Given the description of an element on the screen output the (x, y) to click on. 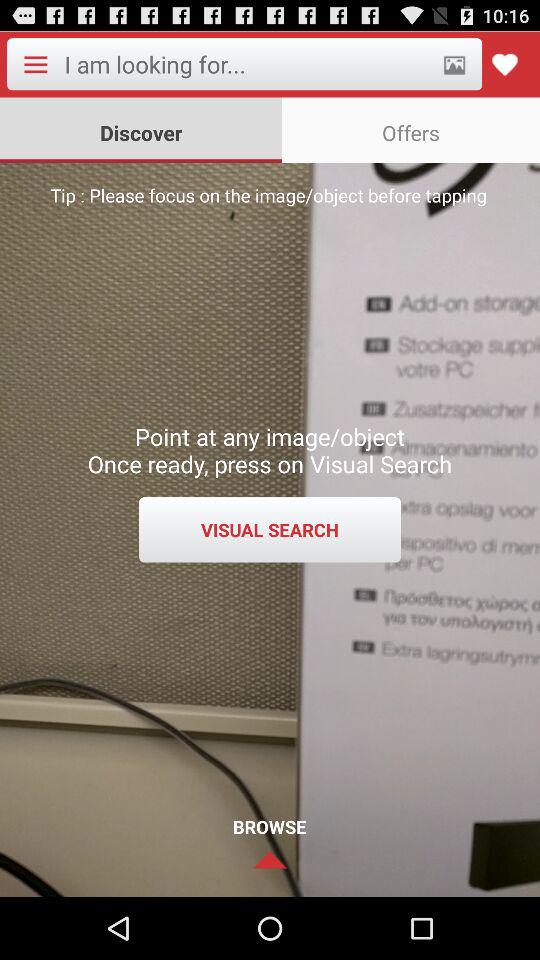
search bar (246, 64)
